Given the description of an element on the screen output the (x, y) to click on. 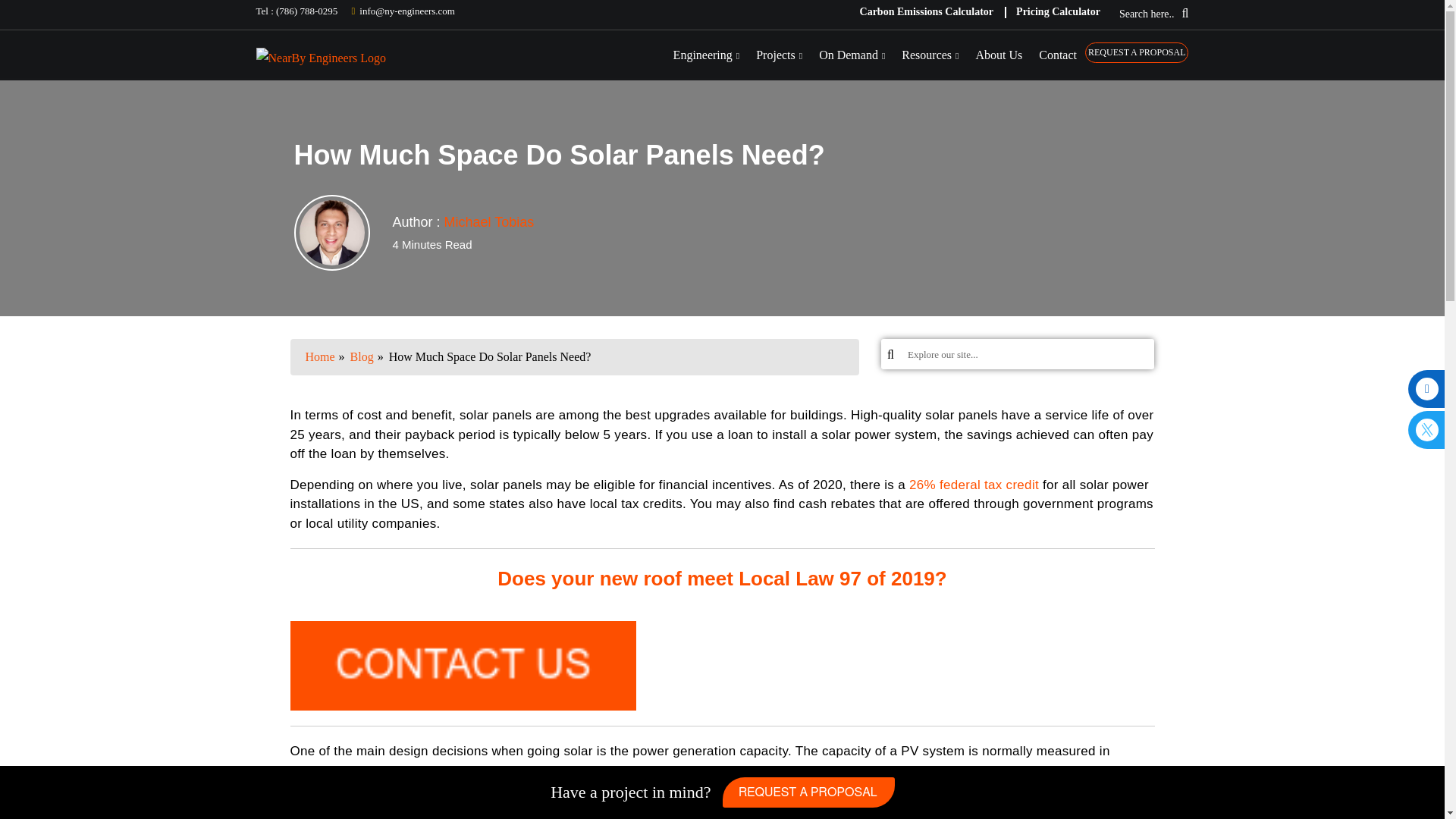
Pricing Calculator (1058, 12)
Engineering (706, 54)
Projects (779, 54)
Carbon Emissions Calculator (927, 12)
